Given the description of an element on the screen output the (x, y) to click on. 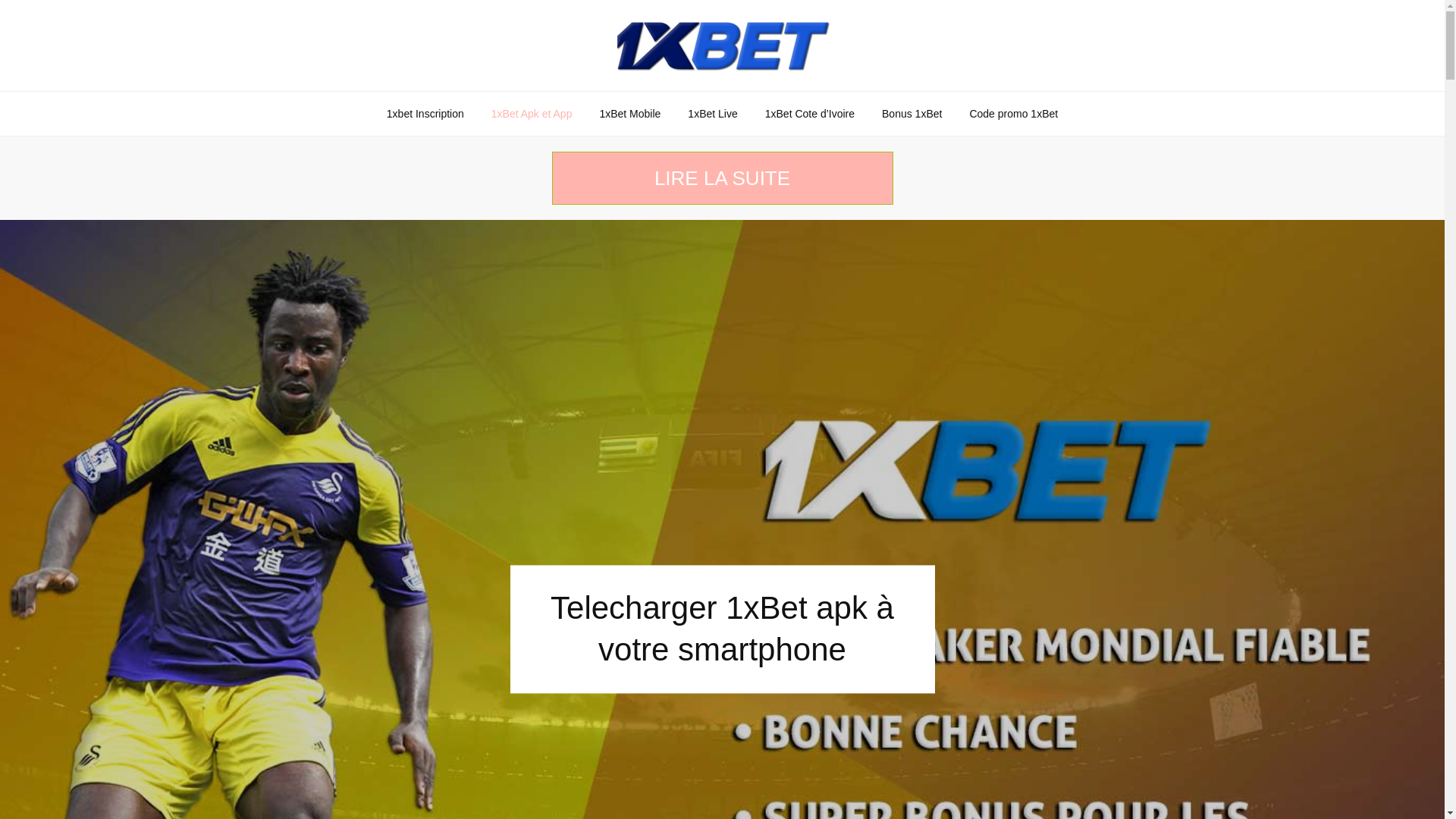
1xBet Apk et App Element type: text (531, 113)
Skip to content Element type: text (0, 0)
Code promo 1xBet Element type: text (1013, 113)
Bonus 1xBet Element type: text (911, 113)
1xBet Mobile Element type: text (629, 113)
1xBet Live Element type: text (712, 113)
LIRE LA SUITE Element type: text (722, 177)
1xbet Inscription Element type: text (425, 113)
